Given the description of an element on the screen output the (x, y) to click on. 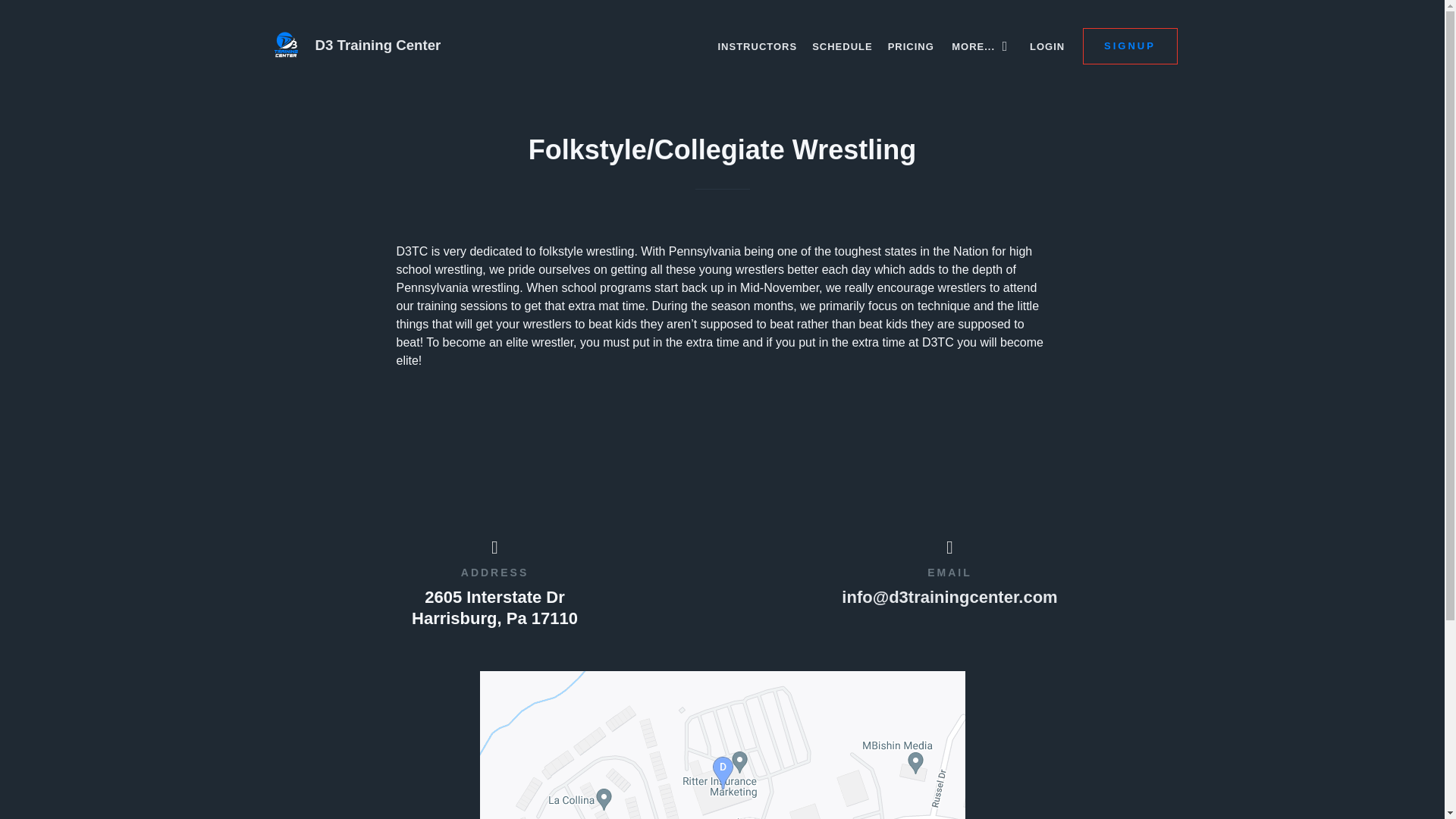
Instructors (757, 46)
PRICING (911, 46)
Homepage - D3 Training Center (488, 45)
SIGNUP (1130, 45)
LOGIN (1046, 46)
D3 Training Center (488, 45)
Schedule (842, 46)
Pricing (911, 46)
INSTRUCTORS (757, 46)
